Given the description of an element on the screen output the (x, y) to click on. 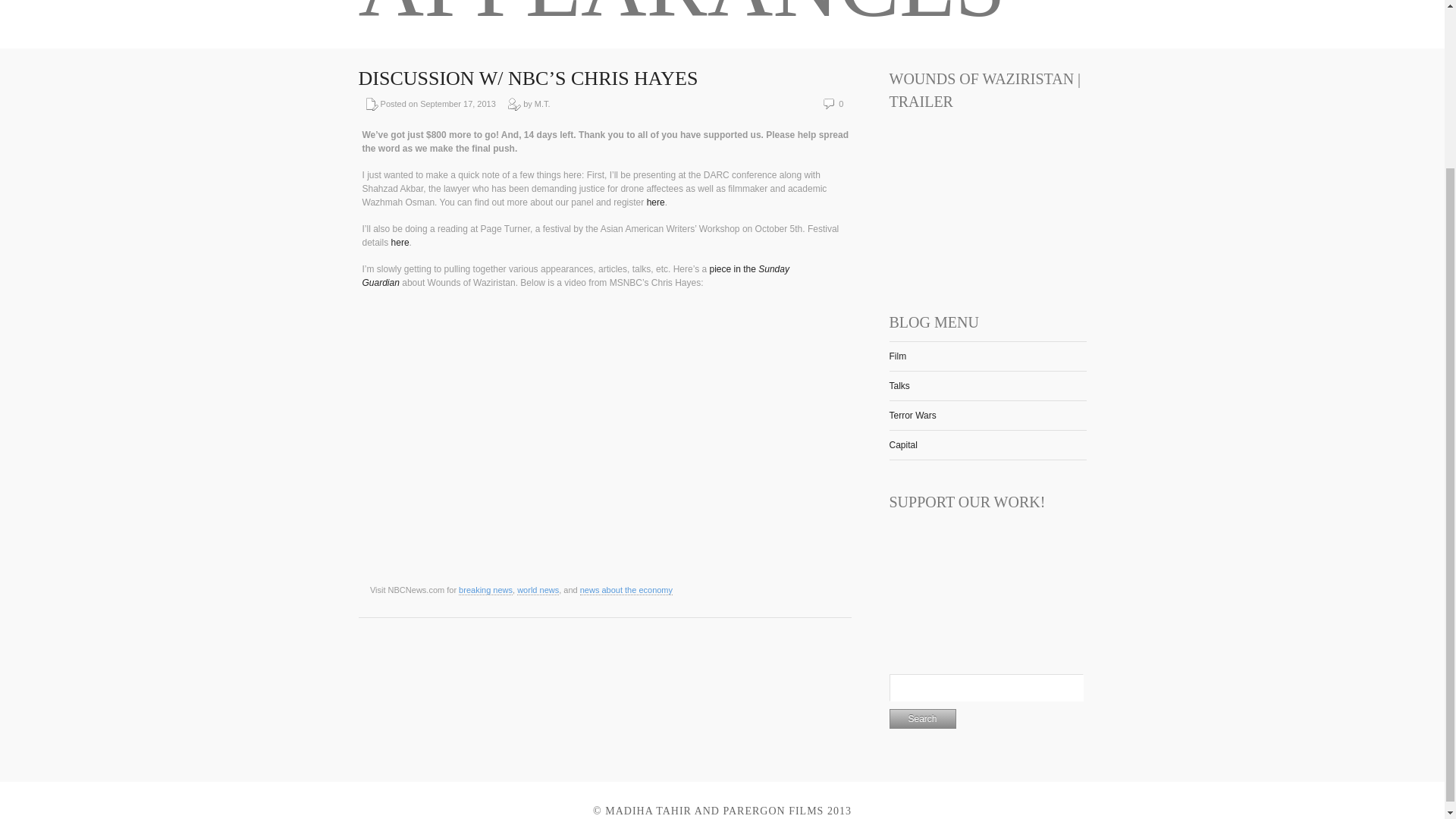
Capital (902, 444)
Terror Wars (912, 415)
Search (921, 719)
Talks (898, 385)
breaking news (485, 590)
Film (896, 356)
The Drone Effect: Ghosts, rubble and loss in Waziristan (575, 275)
world news (537, 590)
The Drone Effect: Ghosts, rubble and loss in Waziristan (734, 268)
piece in the  (734, 268)
here (655, 202)
news about the economy (625, 590)
here (400, 242)
Search (921, 719)
Sunday Guardian (575, 275)
